Given the description of an element on the screen output the (x, y) to click on. 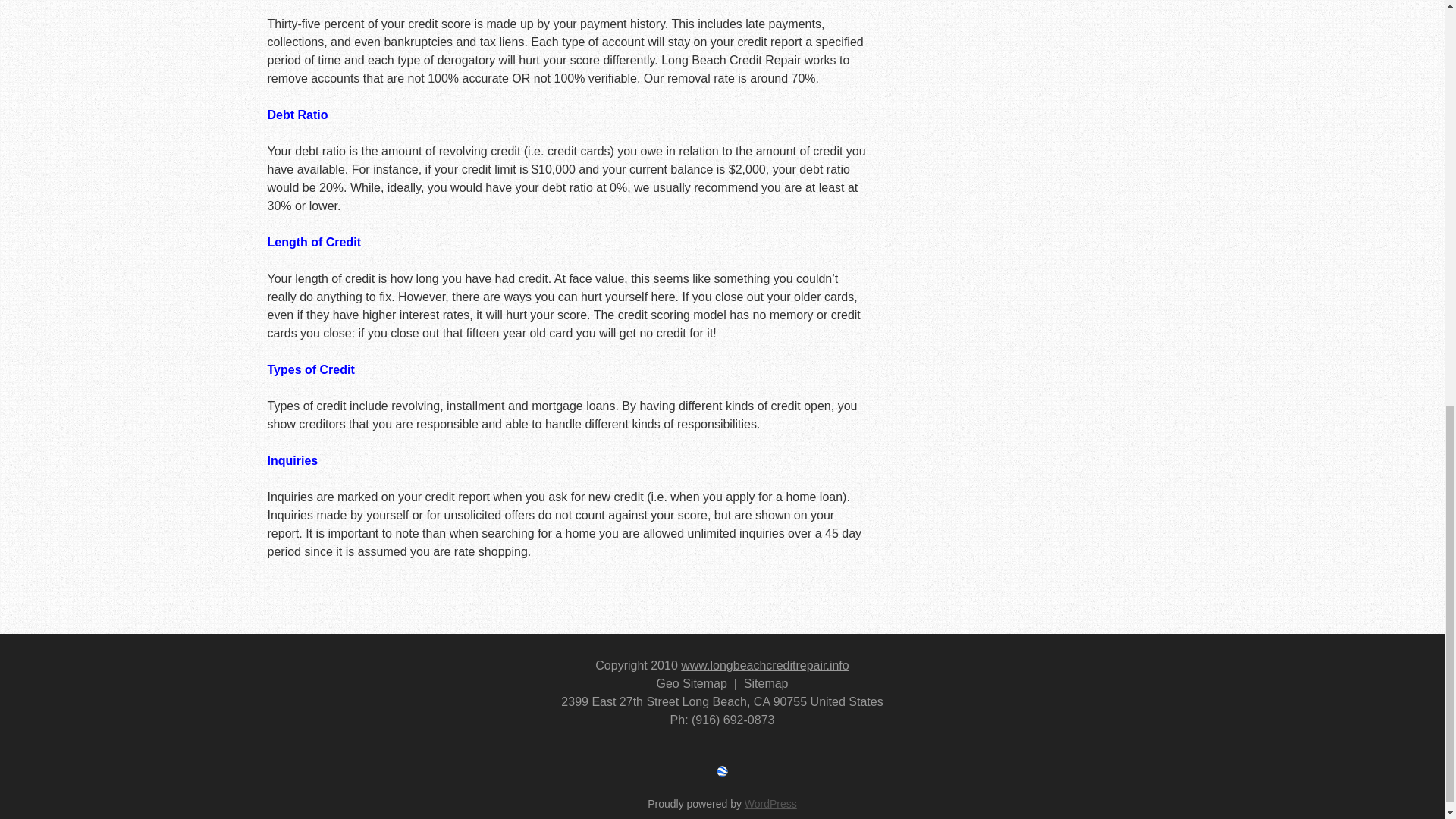
WordPress (770, 803)
Geo Sitemap (691, 683)
Semantic Personal Publishing Platform (770, 803)
Sitemap (766, 683)
www.longbeachcreditrepair.info (764, 665)
